Given the description of an element on the screen output the (x, y) to click on. 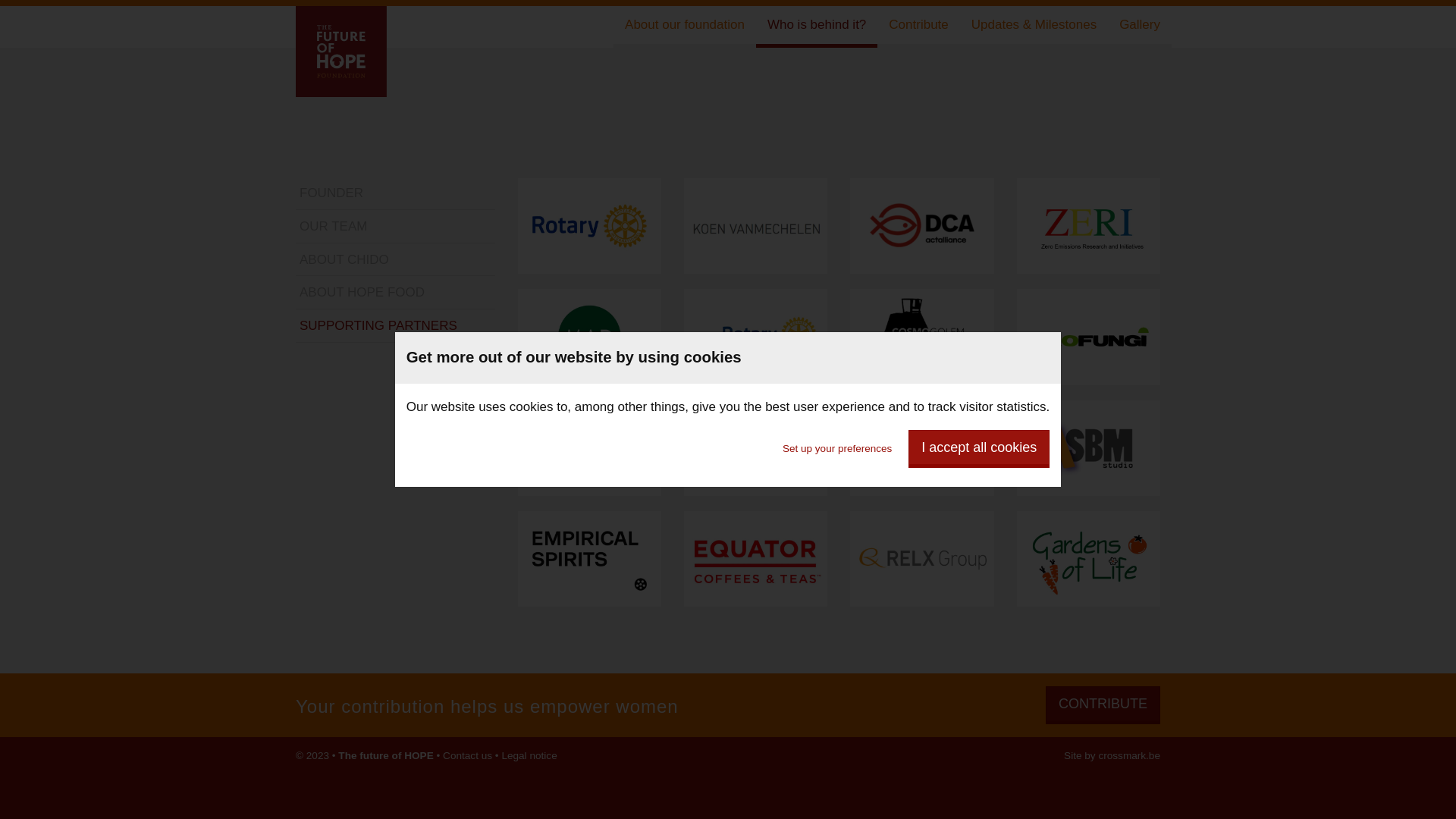
RELX Group Element type: hover (921, 558)
EKOFUNGI Element type: hover (1088, 343)
Coming World Remember Me Element type: hover (588, 447)
ASBM Studio Element type: hover (1088, 447)
ABOUT HOPE FOOD Element type: text (395, 293)
Rotary Club Keerbergen Element type: hover (755, 336)
Zeri Element type: hover (1088, 225)
Empirical Spirits Element type: hover (588, 558)
FOUNDER Element type: text (395, 194)
Rotary Club Keerbergen Element type: hover (755, 343)
Contact us Element type: text (467, 755)
Cosmogolem Foundation Element type: hover (921, 336)
Updates & Milestones Element type: text (1033, 26)
Zeri Element type: hover (1088, 233)
Blue Economy Element type: hover (755, 447)
crossmark.be Element type: text (1129, 755)
Mouth Foundation Element type: hover (921, 447)
SUPPORTING PARTNERS Element type: text (395, 326)
I accept all cookies Element type: text (978, 448)
EKOFUNGI Element type: hover (1088, 336)
Blue Economy Element type: hover (755, 455)
MAD Element type: hover (588, 336)
Koen Van Mechelen Element type: hover (755, 225)
ASBM Studio Element type: hover (1088, 455)
CONTRIBUTE Element type: text (1102, 705)
About our foundation Element type: text (684, 26)
Rotary  Foundation Element type: hover (589, 233)
Gardens of Life Element type: hover (1088, 558)
Rotary  Foundation Element type: hover (588, 225)
Empirical Spirits Element type: hover (589, 566)
MAD Element type: hover (589, 343)
Coming World Remember Me Element type: hover (589, 455)
DCA Element type: hover (921, 233)
Legal notice Element type: text (528, 755)
Koen Van Mechelen Element type: hover (755, 233)
Contribute Element type: text (918, 26)
Cosmogolem Foundation Element type: hover (921, 343)
Who is behind it? Element type: text (816, 26)
RELX Group Element type: hover (921, 566)
DCA Element type: hover (921, 225)
Mouth Foundation Element type: hover (921, 455)
Equator Coffees & Teas Element type: hover (755, 558)
Gallery Element type: text (1139, 26)
ABOUT CHIDO Element type: text (395, 260)
Gardens of Life Element type: hover (1088, 566)
OUR TEAM Element type: text (395, 227)
Set up your preferences Element type: text (836, 448)
Equator Coffees & Teas Element type: hover (755, 566)
